Given the description of an element on the screen output the (x, y) to click on. 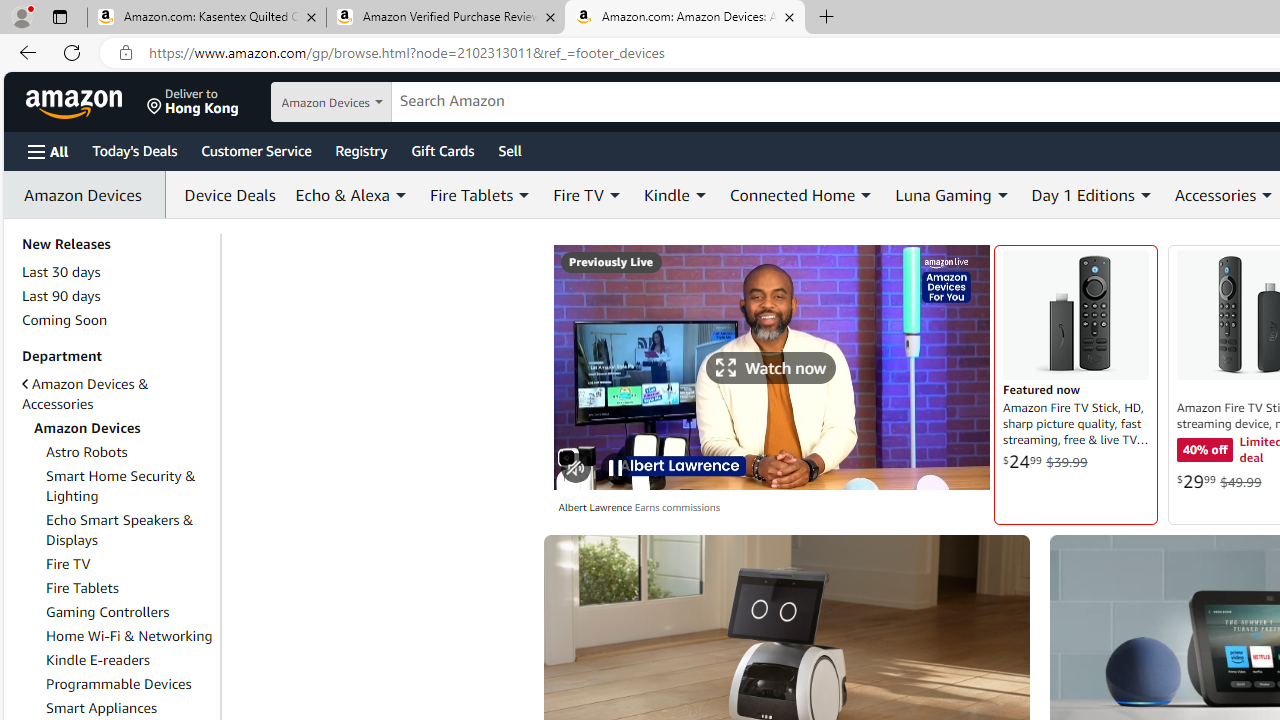
Search in (371, 102)
Expand Connected Home (866, 195)
Last 30 days (117, 272)
Home Wi-Fi & Networking (129, 635)
